Given the description of an element on the screen output the (x, y) to click on. 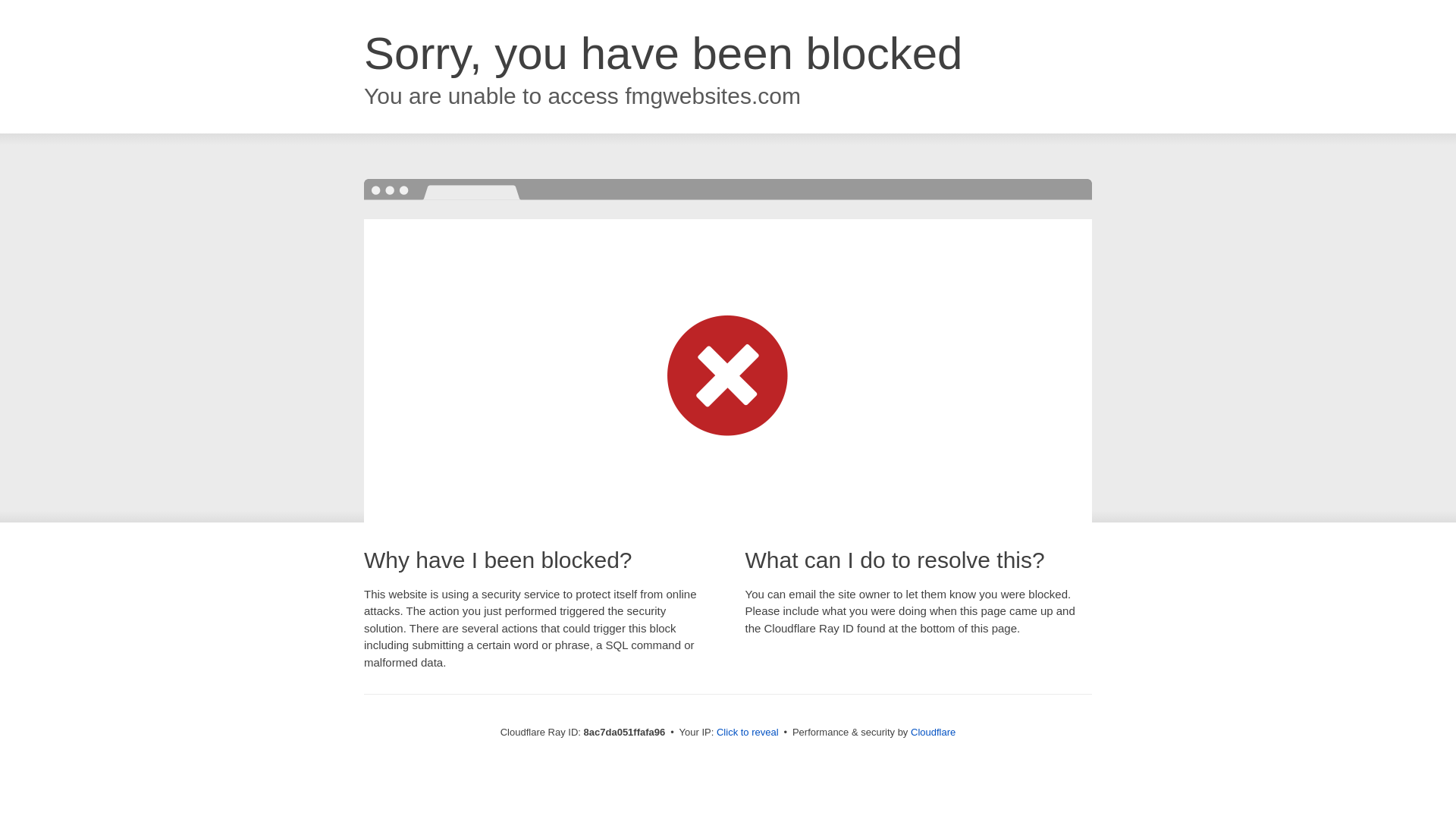
Click to reveal (747, 732)
Cloudflare (933, 731)
